Given the description of an element on the screen output the (x, y) to click on. 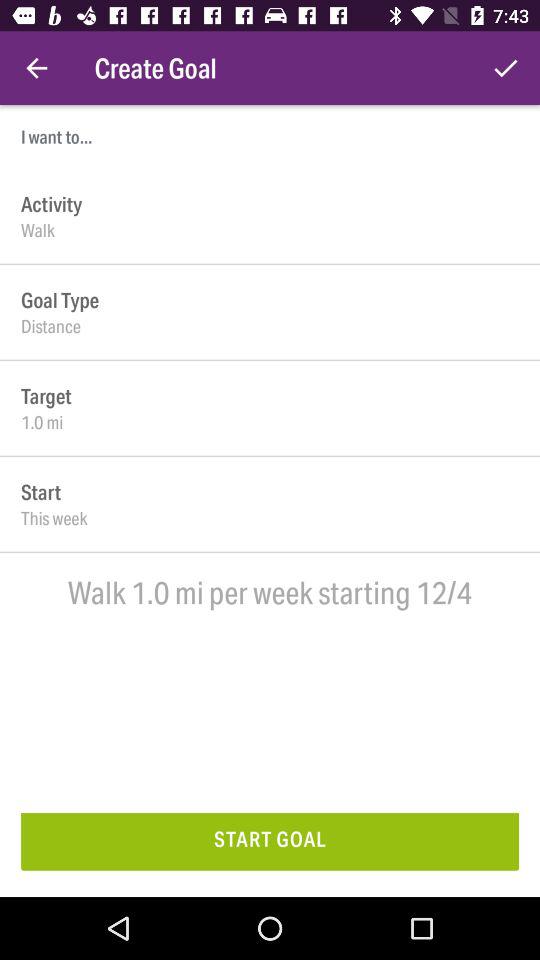
open the icon next to create goal (505, 67)
